Given the description of an element on the screen output the (x, y) to click on. 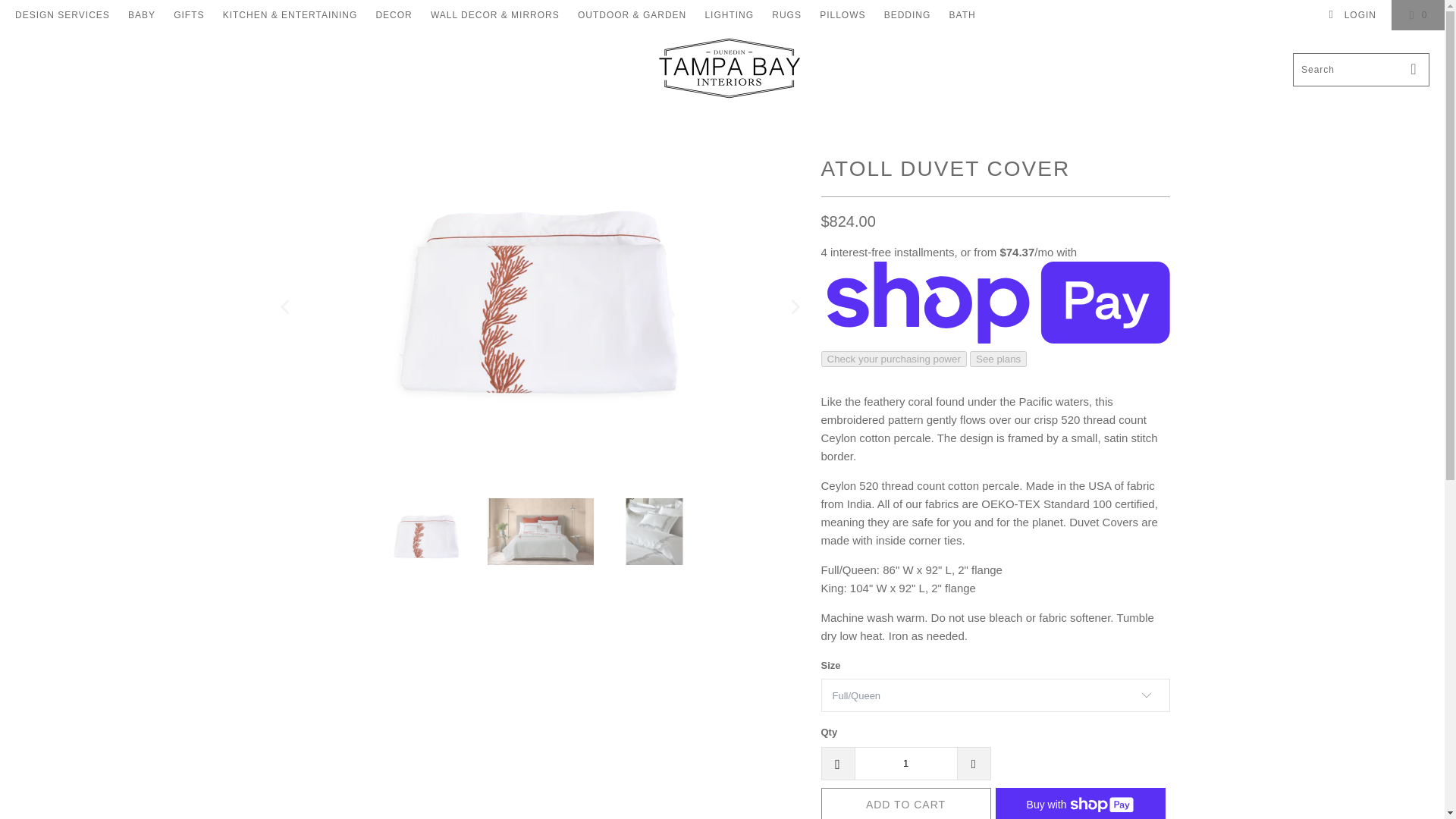
GIFTS (188, 15)
PILLOWS (841, 15)
LIGHTING (729, 15)
Tampa Bay Interiors (727, 68)
DECOR (393, 15)
LOGIN (1351, 15)
RUGS (786, 15)
BEDDING (907, 15)
BABY (141, 15)
1 (904, 763)
DESIGN SERVICES (62, 15)
BATH (962, 15)
My Account  (1351, 15)
